Given the description of an element on the screen output the (x, y) to click on. 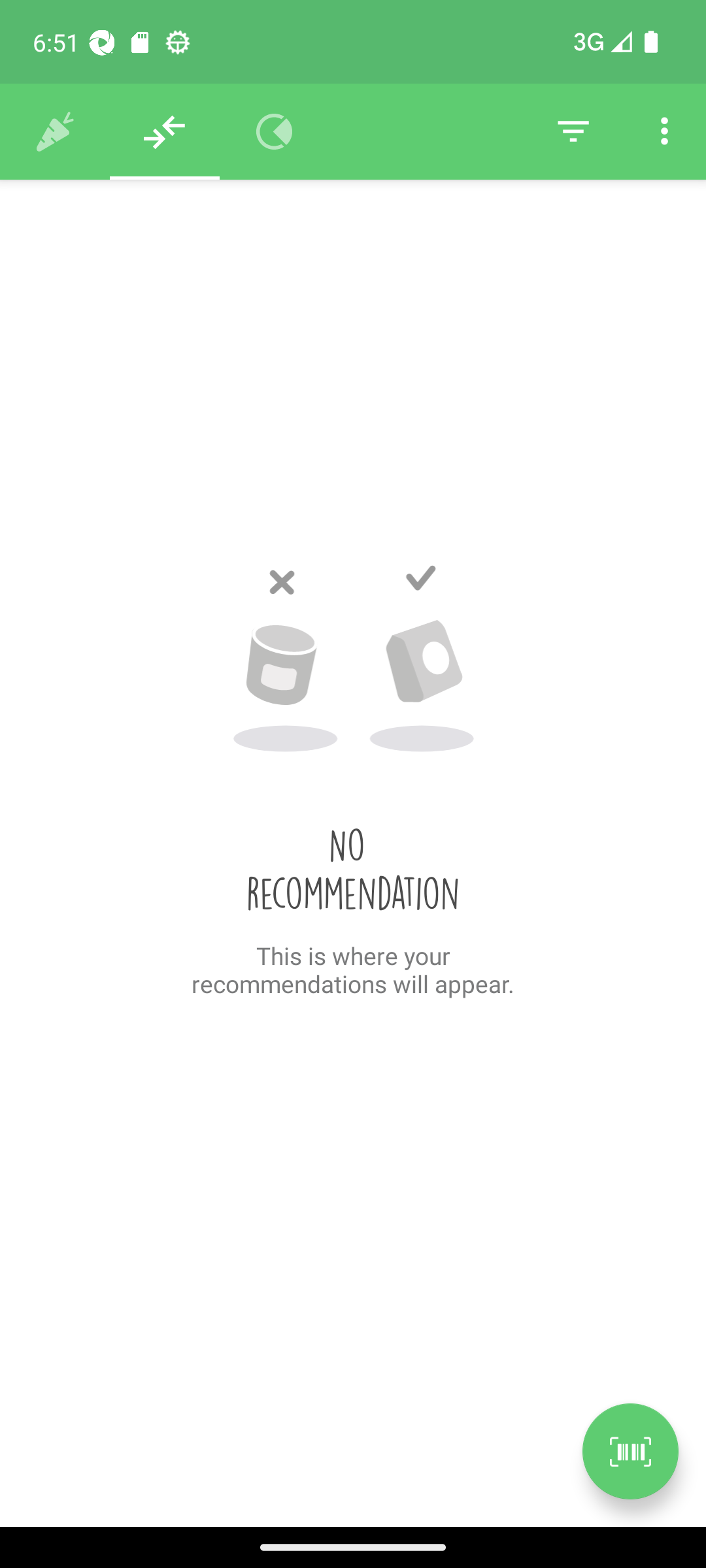
History (55, 131)
Overview (274, 131)
Filter (572, 131)
Settings (664, 131)
Scan a product (630, 1451)
